Given the description of an element on the screen output the (x, y) to click on. 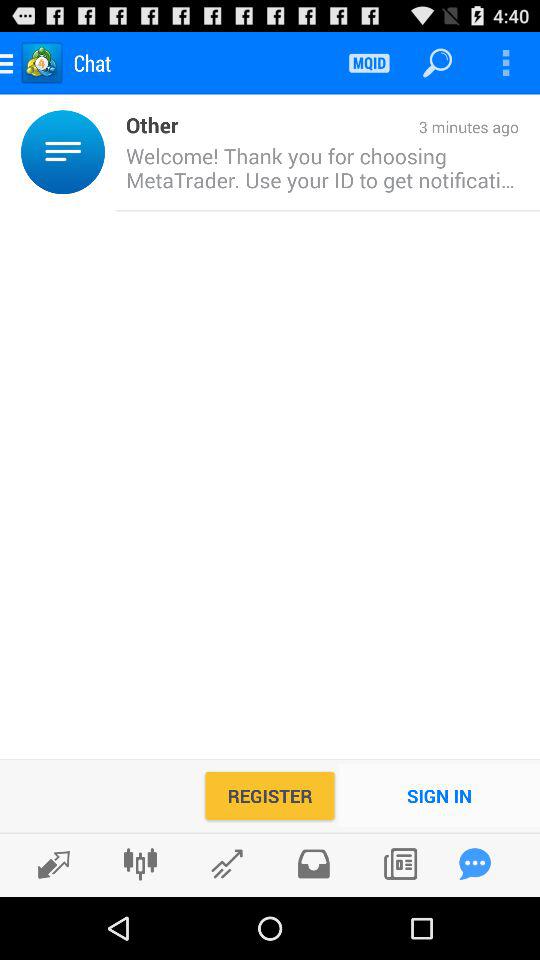
chat (475, 864)
